Given the description of an element on the screen output the (x, y) to click on. 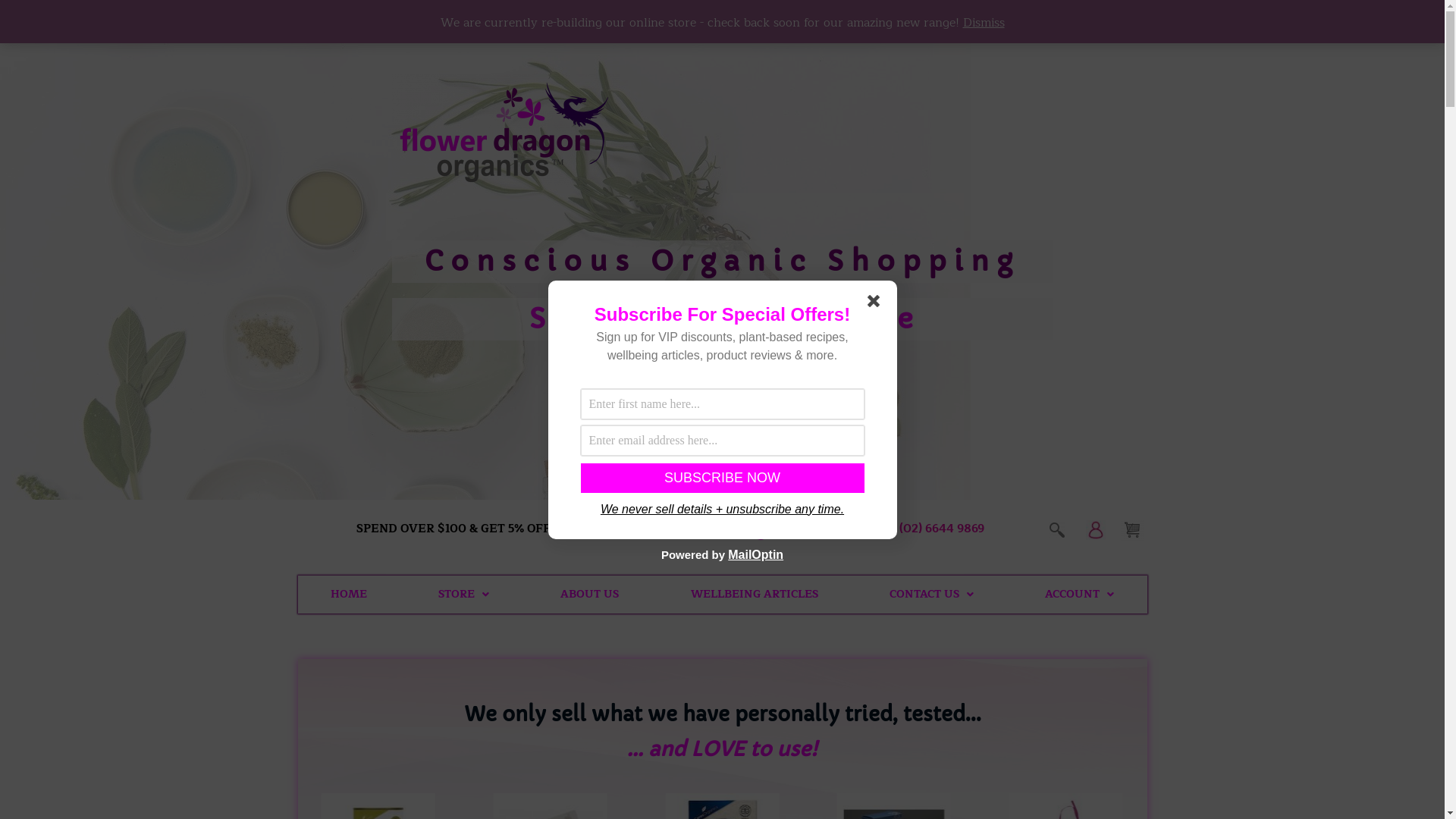
ABOUT US Element type: text (589, 594)
search-icon Element type: hover (1056, 529)
WELLBEING ARTICLES Element type: text (753, 594)
STORE Element type: text (463, 594)
Close optin form Element type: hover (876, 303)
Subscribe Now Element type: text (722, 477)
CONTACT US Element type: text (931, 594)
cart_icon Element type: hover (1131, 529)
Dismiss Element type: text (983, 22)
HOME Element type: text (347, 594)
account_icon_magenta Element type: hover (1095, 529)
Take Action Now! Element type: text (172, 14)
MailOptin Element type: text (755, 553)
Take Action Now! Element type: text (316, 14)
ACCOUNT Element type: text (1079, 594)
